Given the description of an element on the screen output the (x, y) to click on. 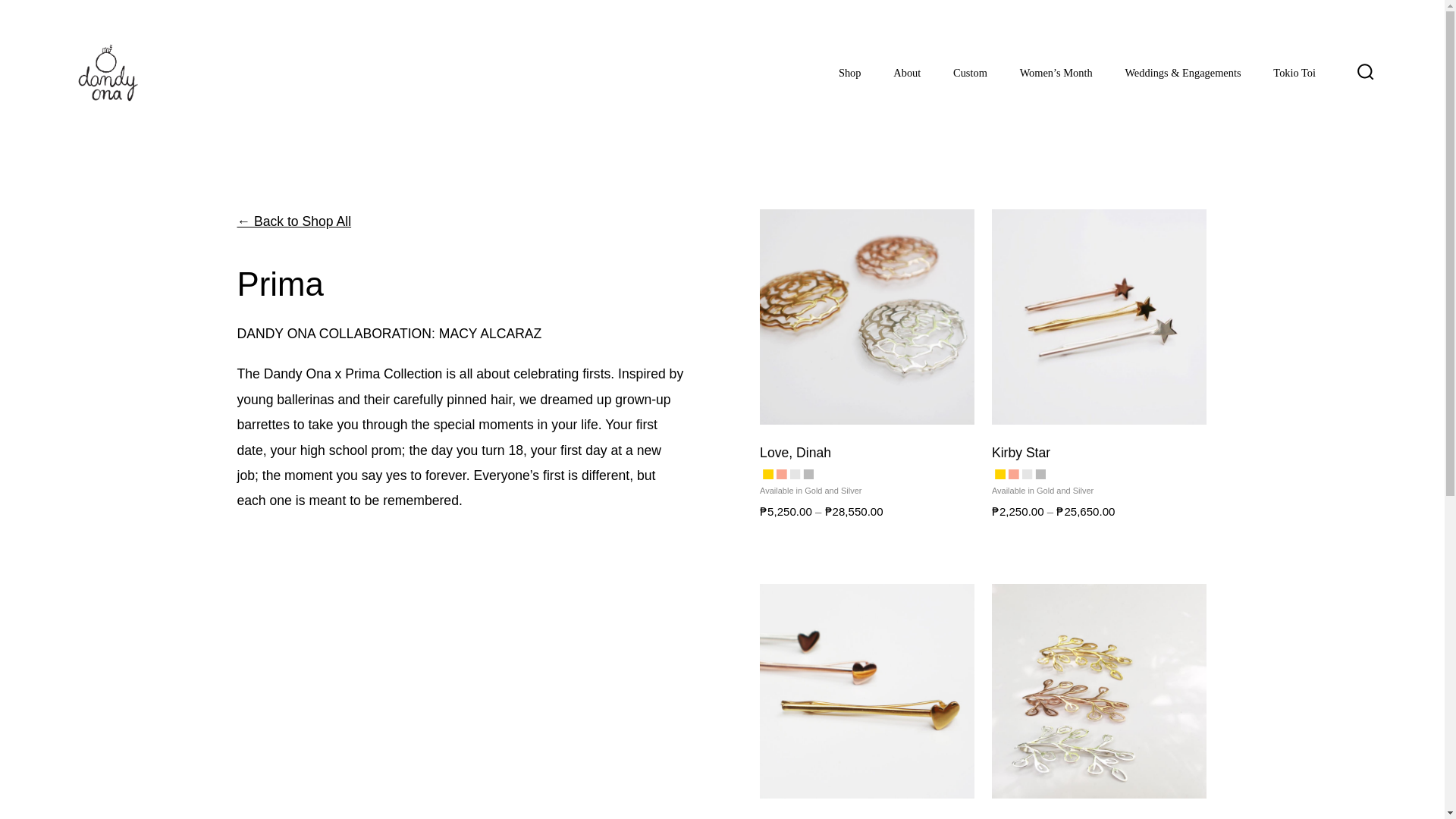
Shop (849, 73)
Custom (970, 73)
Tokio Toi (1294, 73)
SEARCH TOGGLE (1365, 72)
About (906, 73)
